Given the description of an element on the screen output the (x, y) to click on. 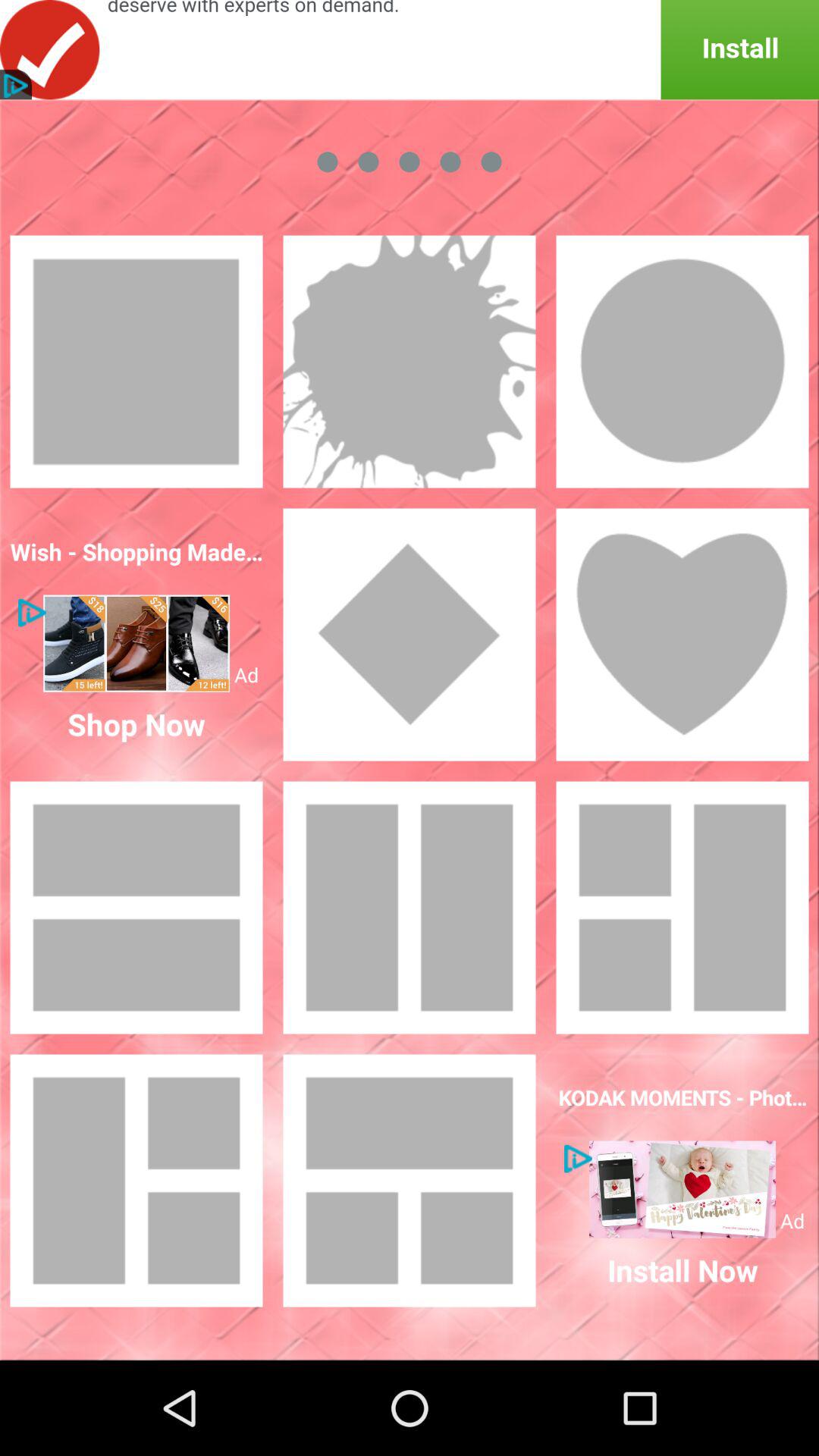
select figure (682, 634)
